Given the description of an element on the screen output the (x, y) to click on. 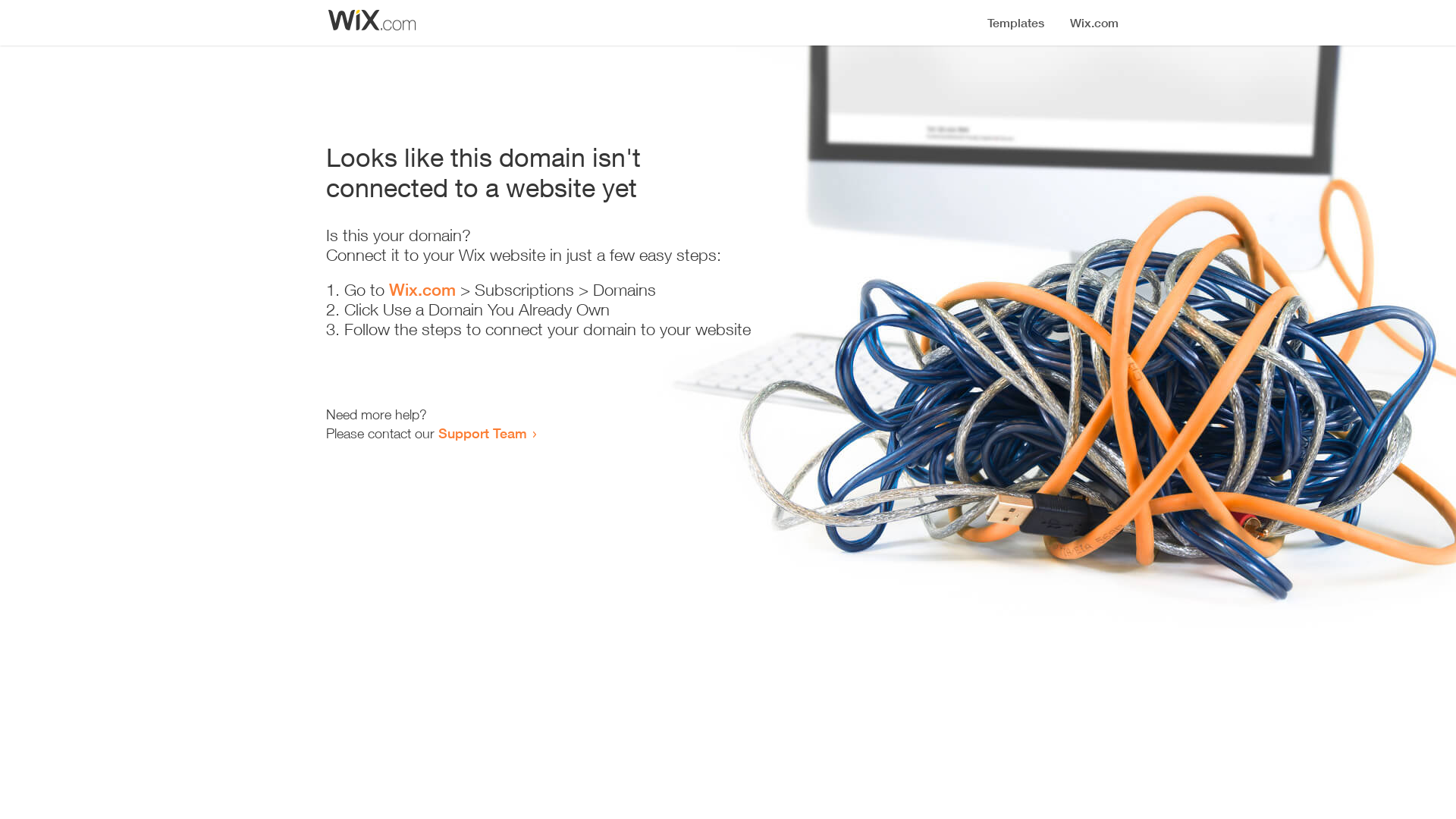
Support Team Element type: text (482, 432)
Wix.com Element type: text (422, 289)
